Given the description of an element on the screen output the (x, y) to click on. 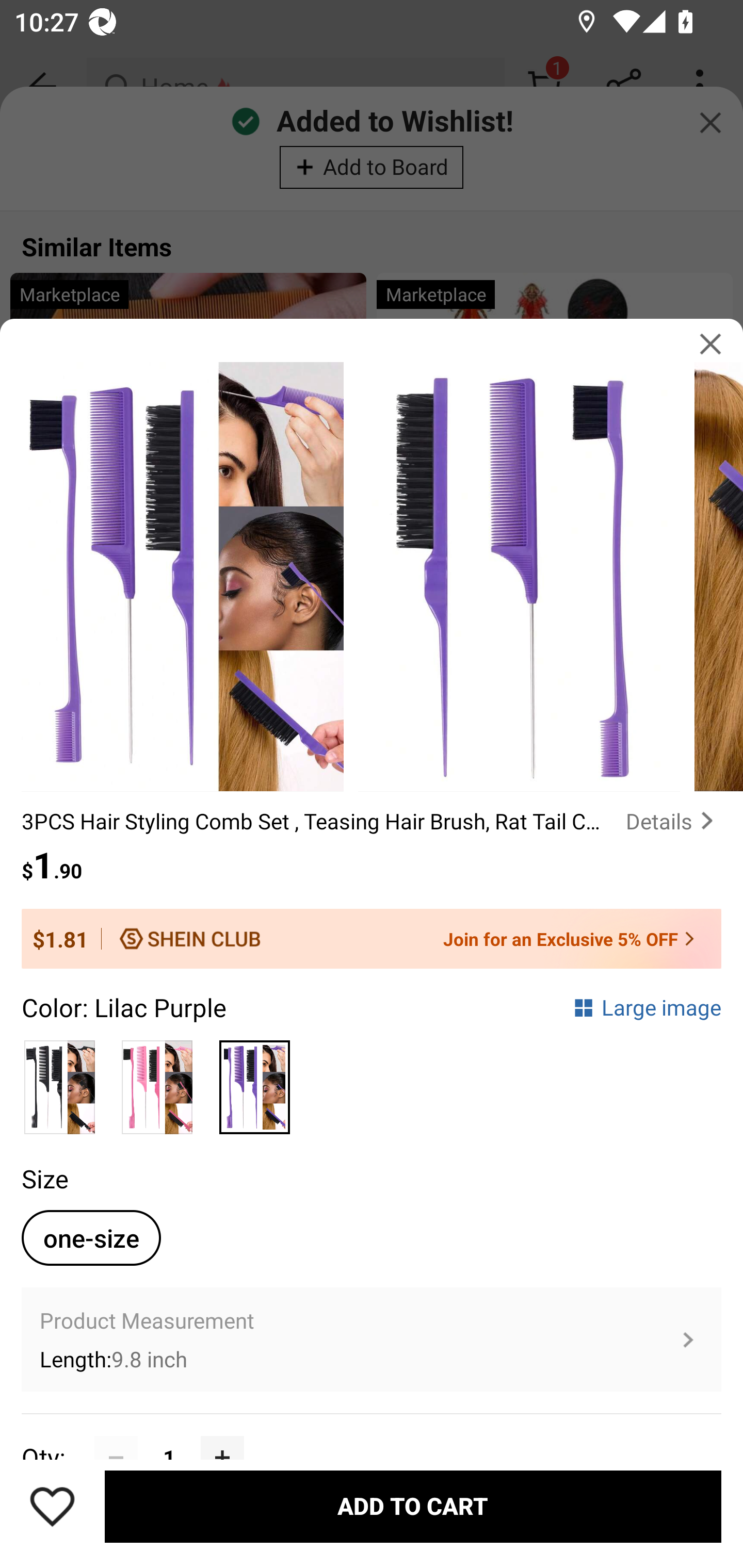
Details (673, 820)
$1.81 Join for an Exclusive 5% OFF (371, 939)
Color: Lilac Purple (123, 1006)
Large image (646, 1006)
Black (59, 1081)
Pink (156, 1081)
Lilac Purple (254, 1081)
Size (44, 1177)
one-size one-sizeselected option (91, 1237)
Product Measurement Length:9.8 inch (371, 1339)
ADD TO CART (412, 1506)
Save (52, 1505)
